Given the description of an element on the screen output the (x, y) to click on. 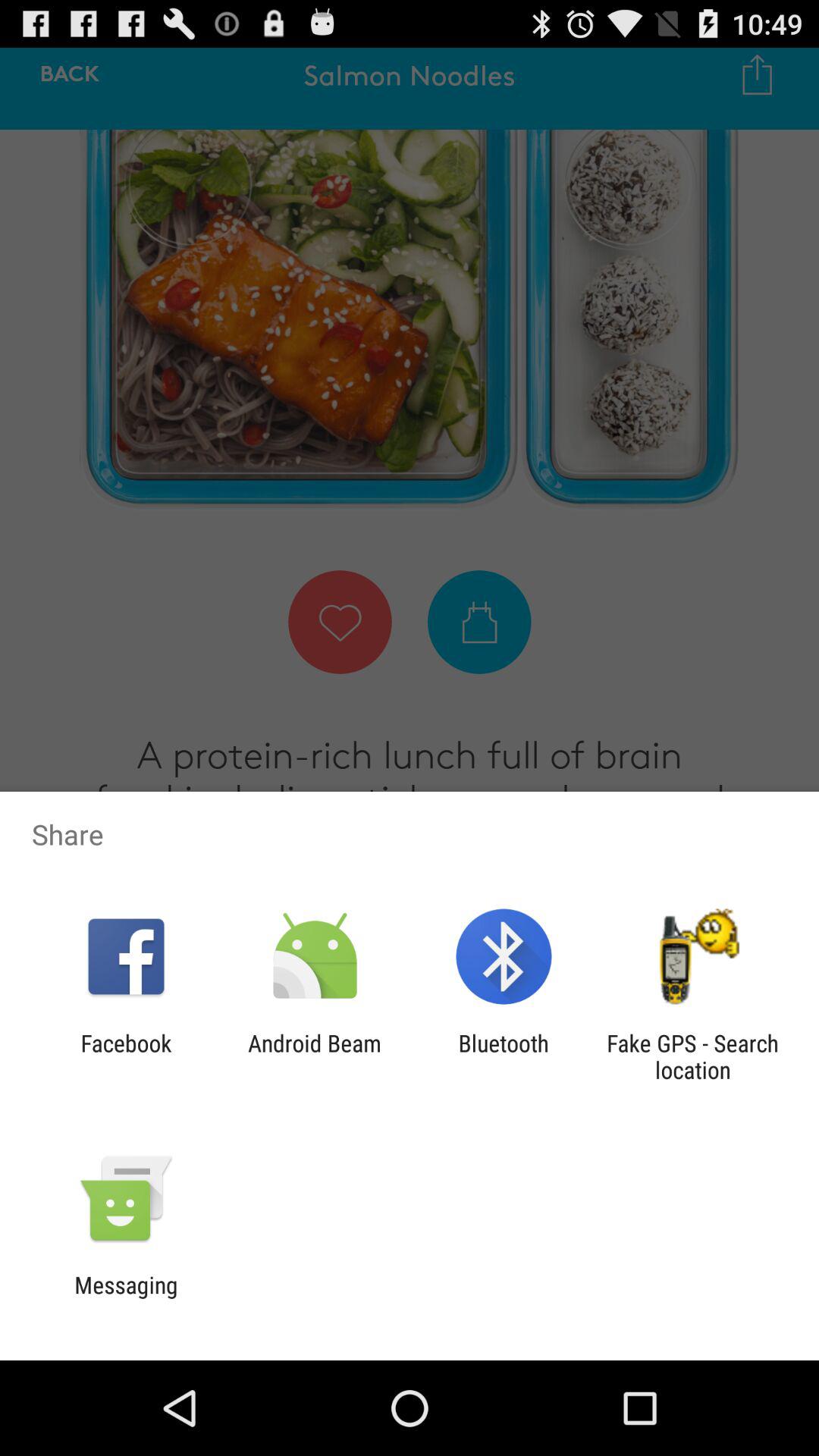
turn off the item to the right of android beam icon (503, 1056)
